Given the description of an element on the screen output the (x, y) to click on. 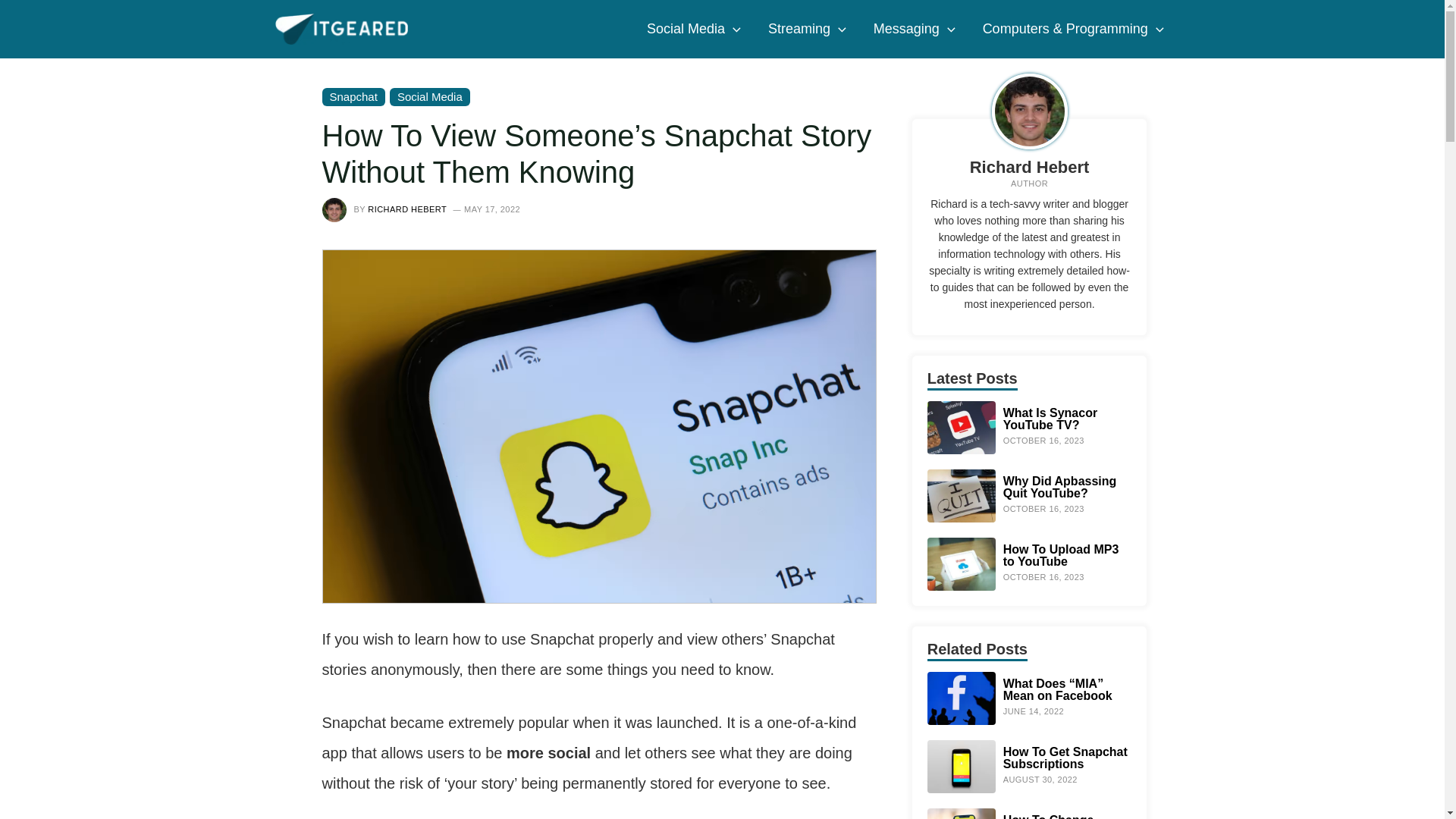
Messaging (914, 28)
Streaming (807, 28)
Social Media (693, 28)
